Given the description of an element on the screen output the (x, y) to click on. 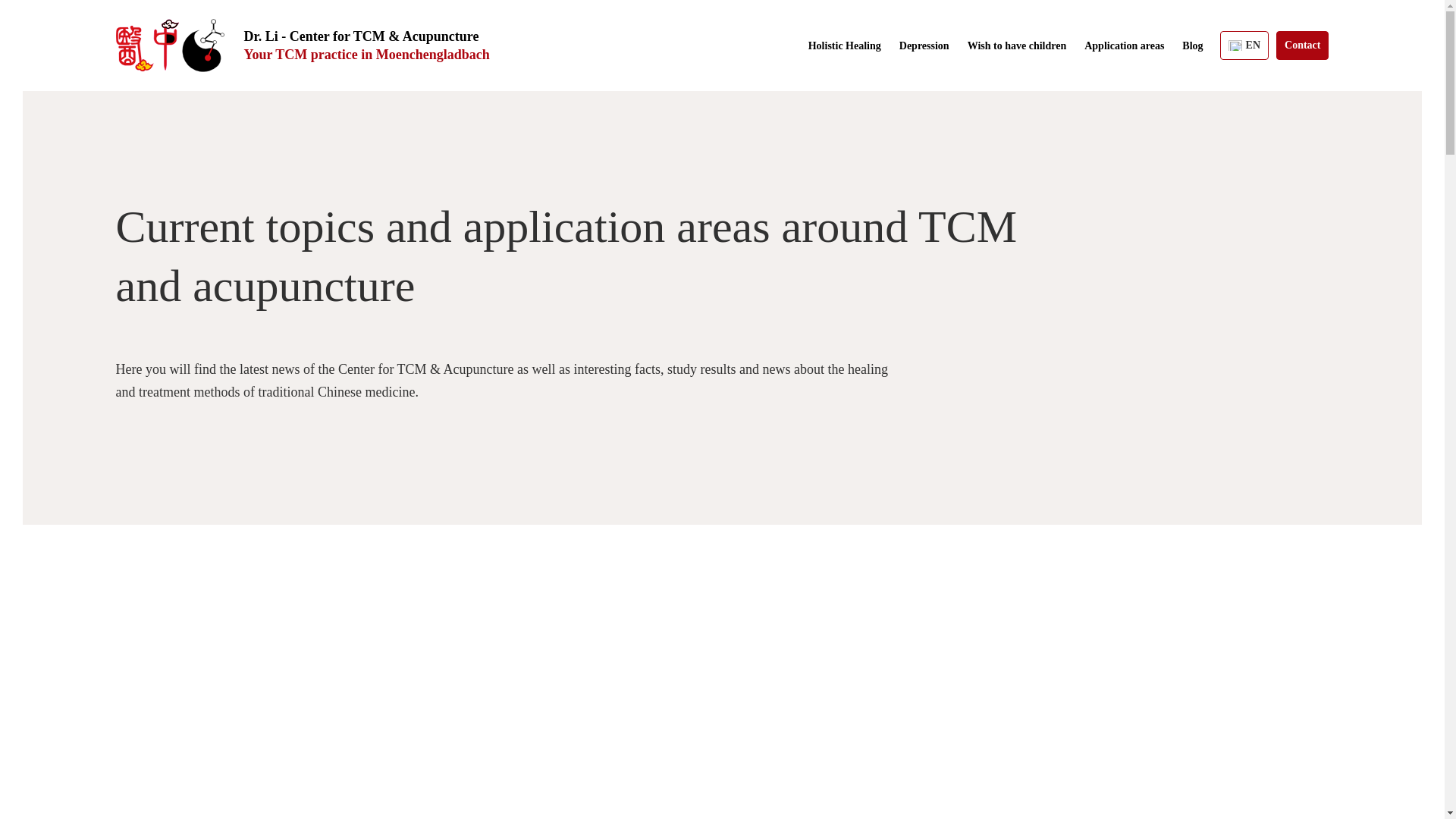
Contact (1301, 45)
Blog (1192, 45)
Wish to have children (1017, 45)
Depression (924, 45)
Holistic Healing (844, 45)
Application areas (1123, 45)
EN (1244, 45)
